Given the description of an element on the screen output the (x, y) to click on. 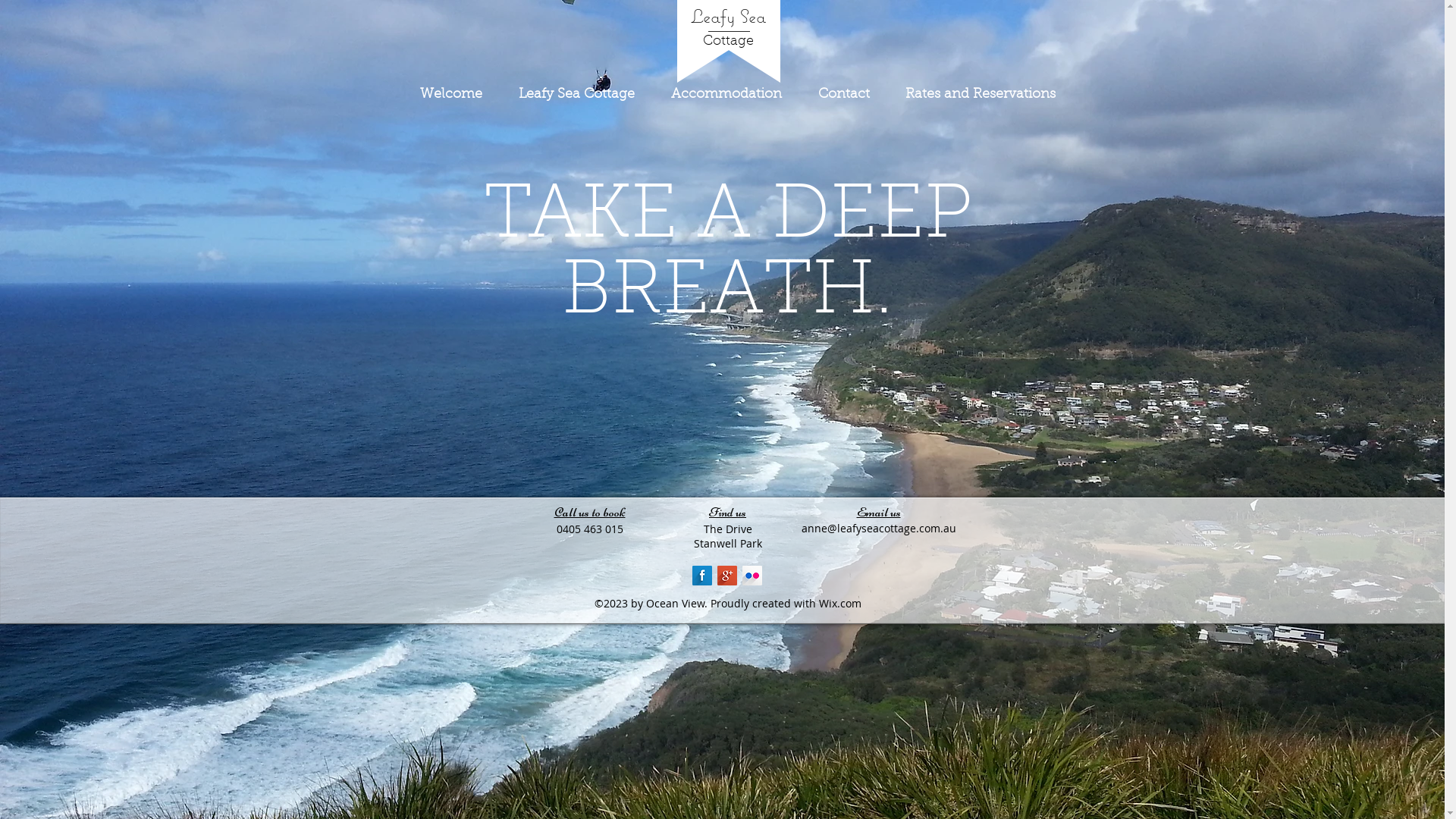
Leafy Sea Cottage Element type: text (576, 94)
Accommodation Element type: text (725, 94)
anne@leafyseacottage.com.au Element type: text (877, 527)
Wix.com Element type: text (840, 603)
Welcome Element type: text (450, 94)
Contact Element type: text (843, 94)
Rates and Reservations Element type: text (980, 94)
